Given the description of an element on the screen output the (x, y) to click on. 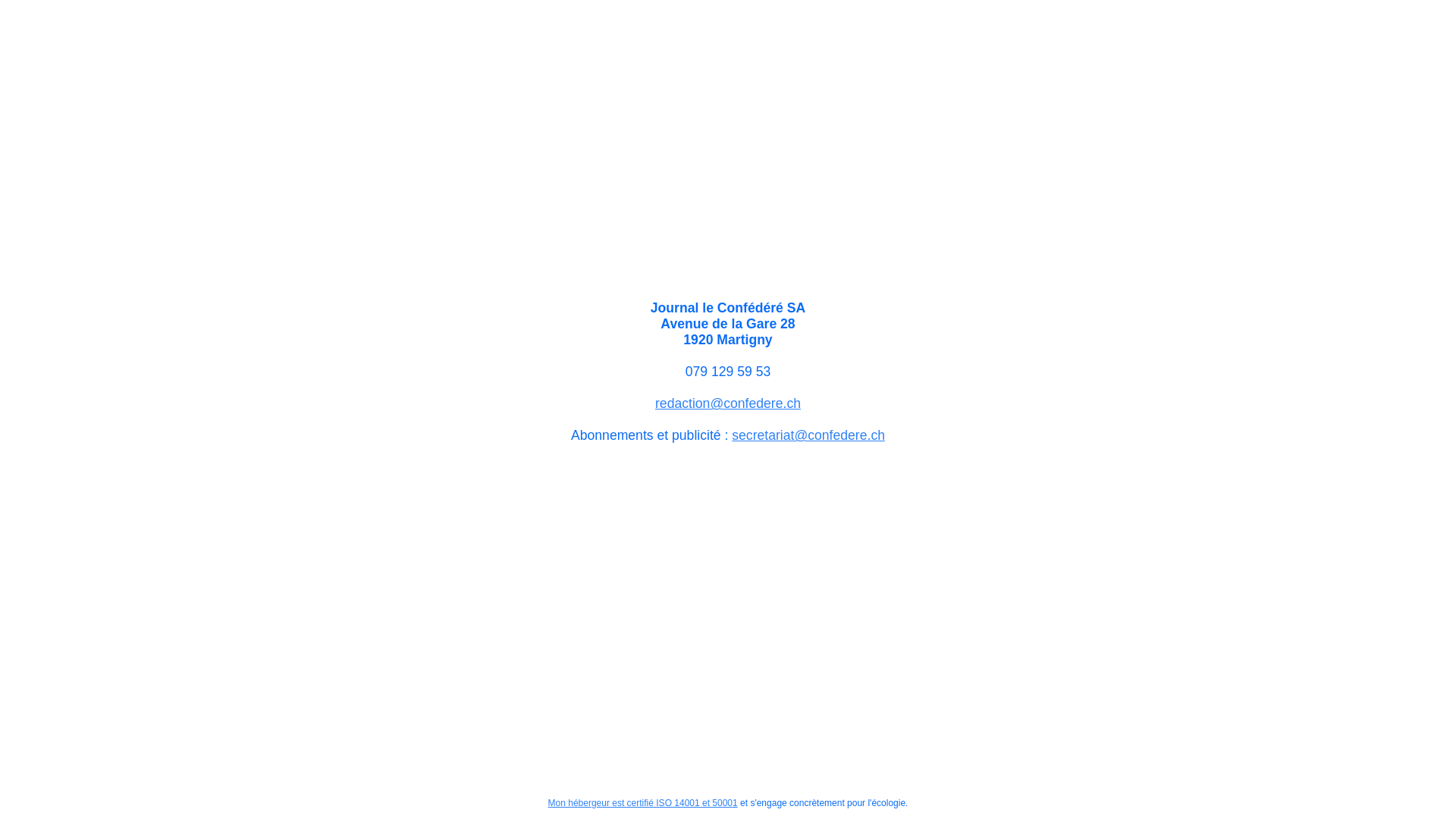
redaction@confedere.ch Element type: text (727, 403)
secretariat@confedere.ch Element type: text (807, 434)
